Given the description of an element on the screen output the (x, y) to click on. 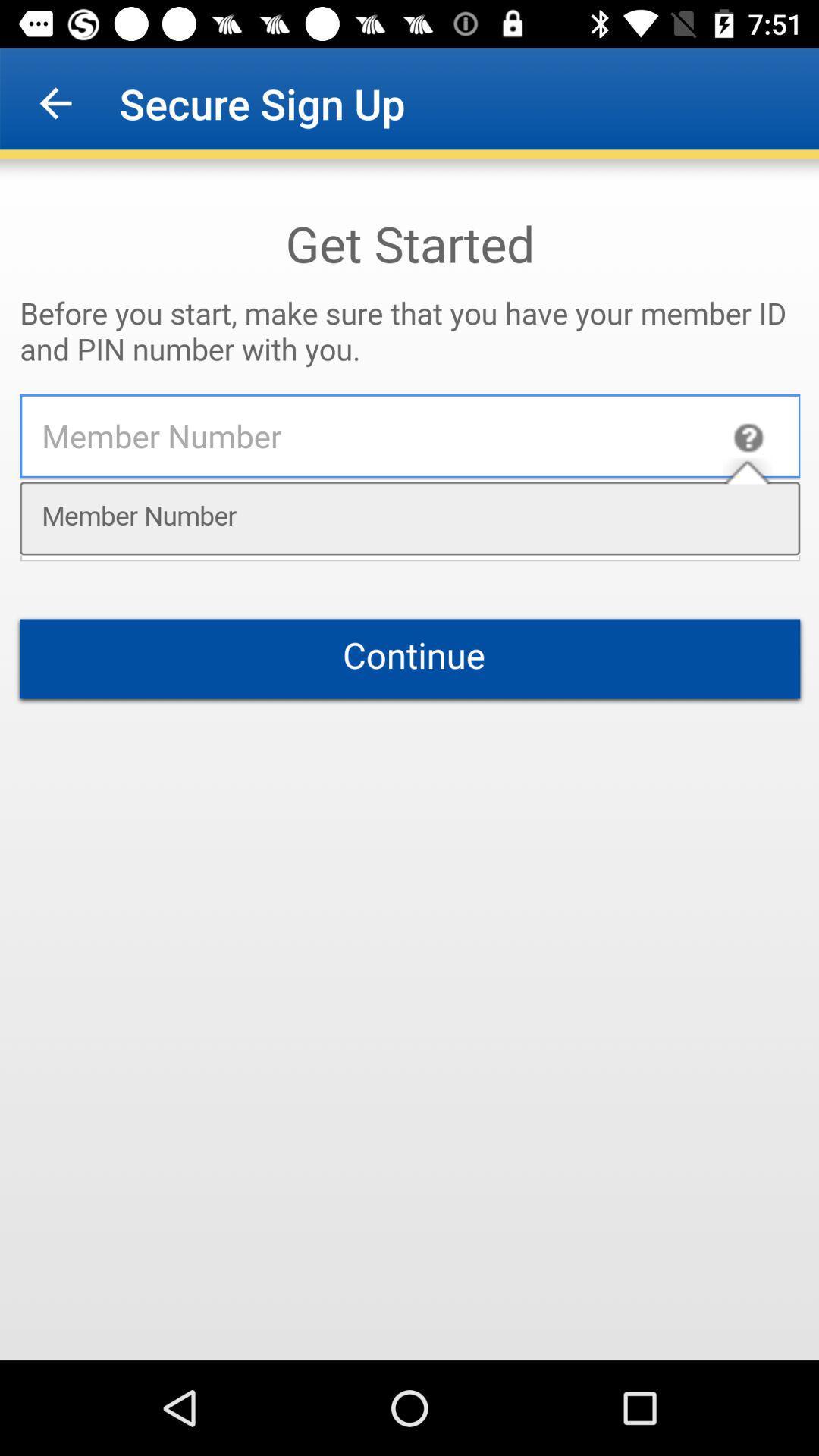
enter member number (409, 759)
